Given the description of an element on the screen output the (x, y) to click on. 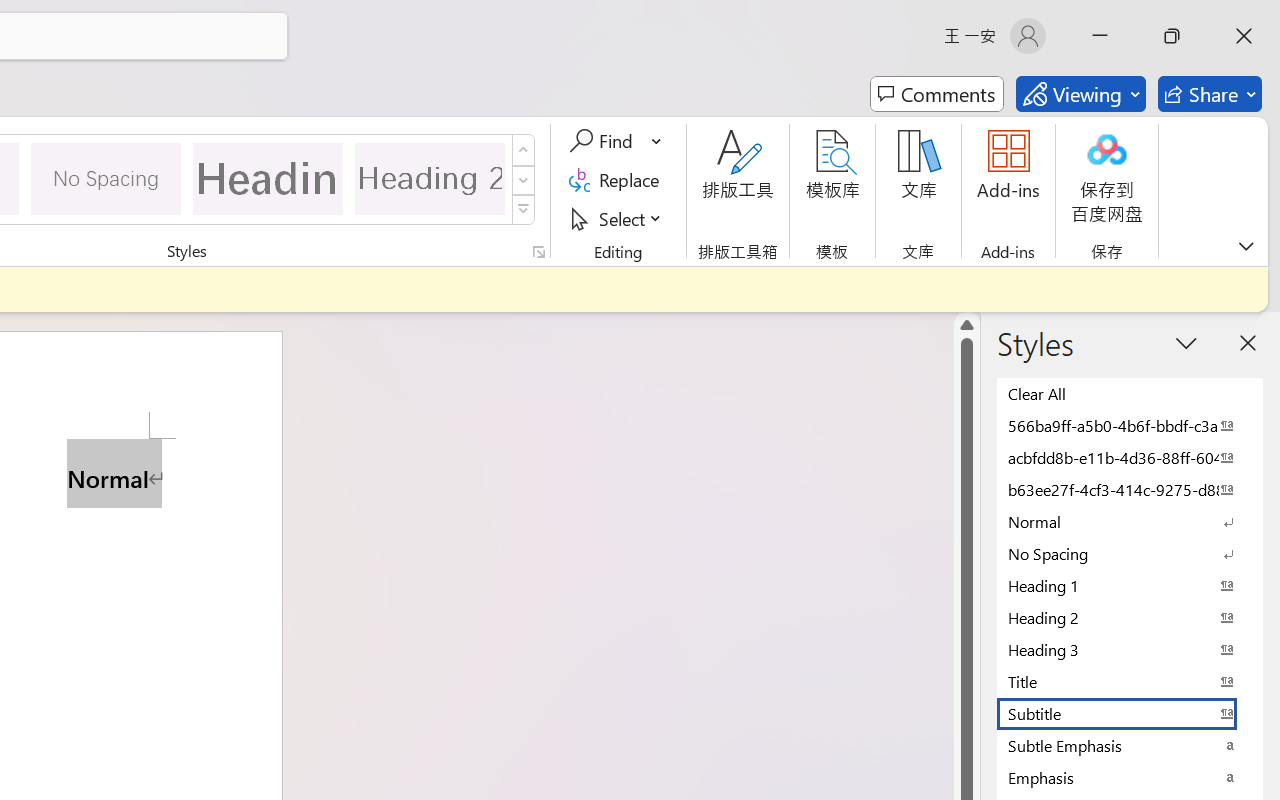
Heading 3 (1130, 649)
Replace... (617, 179)
Task Pane Options (1186, 343)
acbfdd8b-e11b-4d36-88ff-6049b138f862 (1130, 457)
566ba9ff-a5b0-4b6f-bbdf-c3ab41993fc2 (1130, 425)
Subtitle (1130, 713)
Row Down (523, 180)
Row up (523, 150)
